Given the description of an element on the screen output the (x, y) to click on. 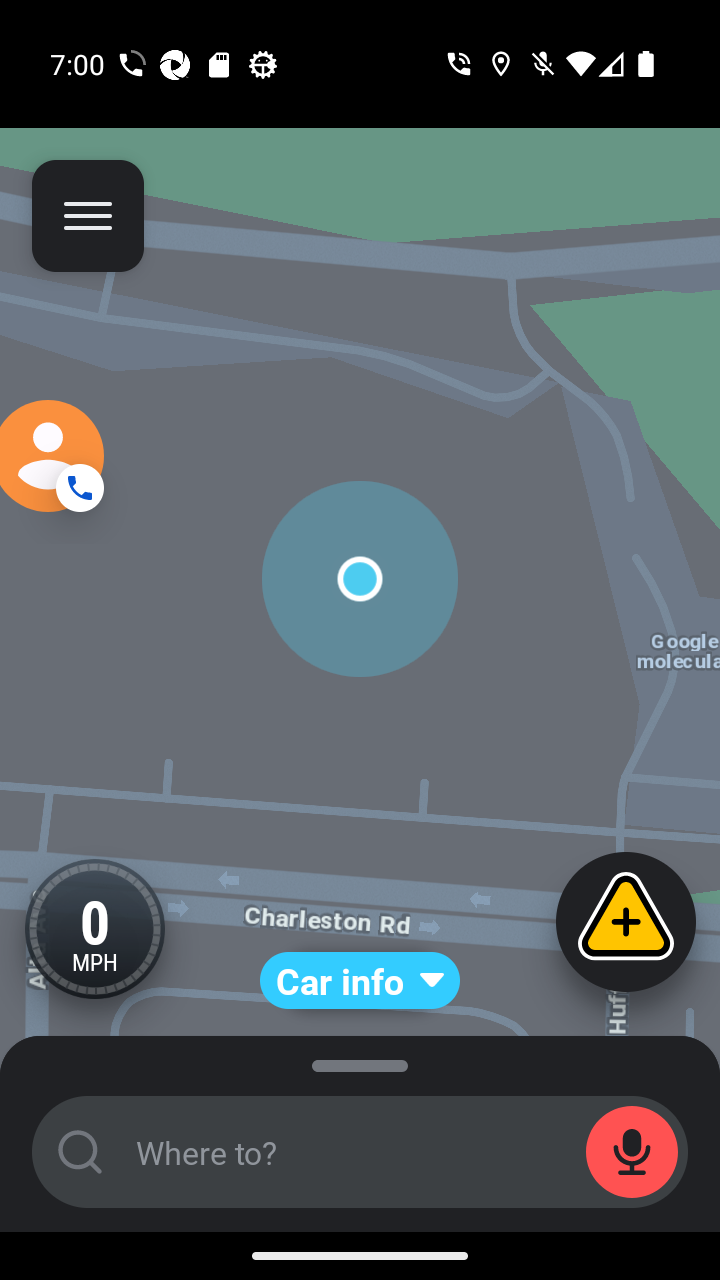
Car info (359, 980)
SUGGESTIONS_SHEET_DRAG_HANDLE (359, 1061)
START_STATE_SEARCH_FIELD Where to? (359, 1151)
